Given the description of an element on the screen output the (x, y) to click on. 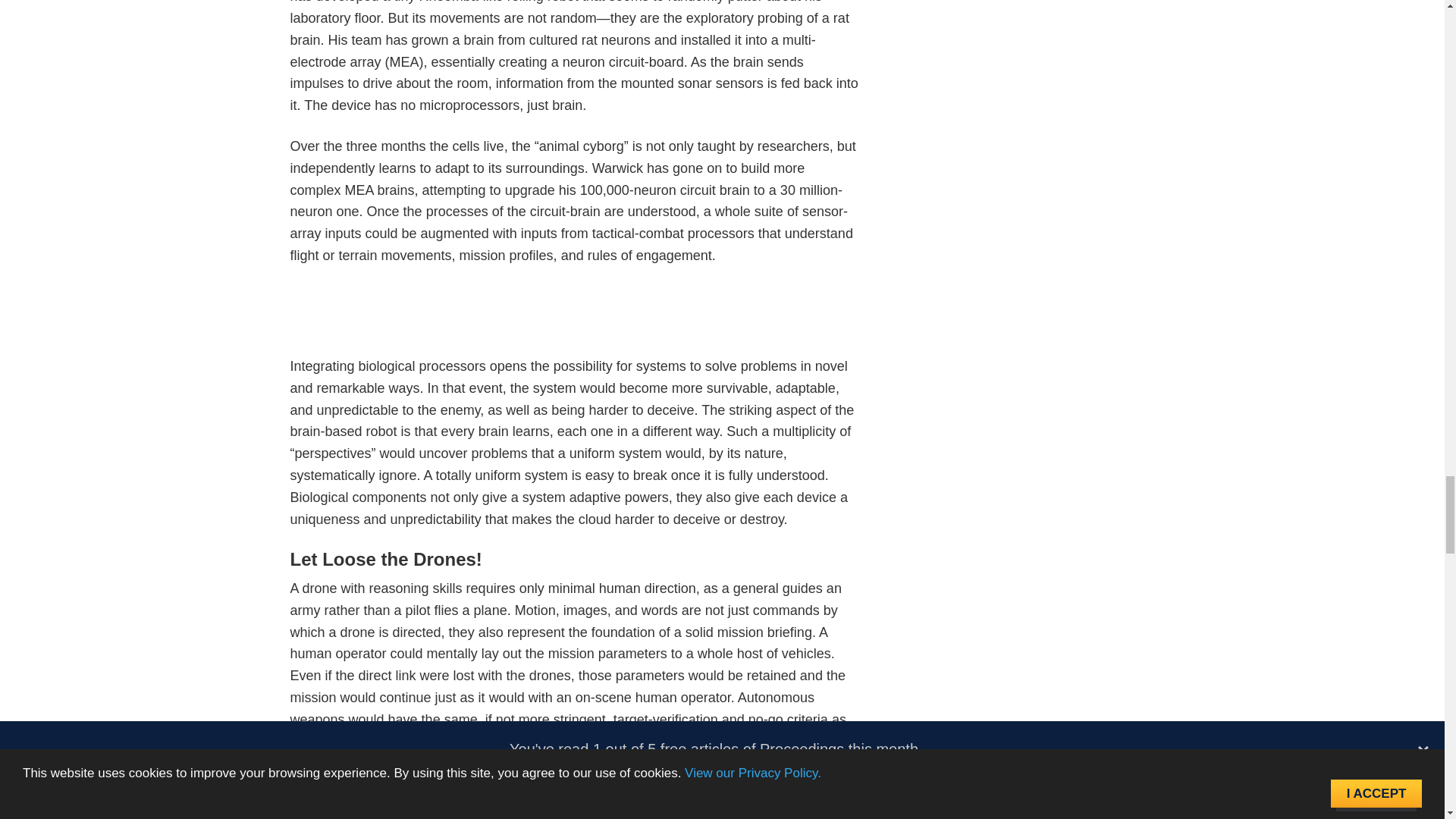
3rd party ad content (574, 320)
